Given the description of an element on the screen output the (x, y) to click on. 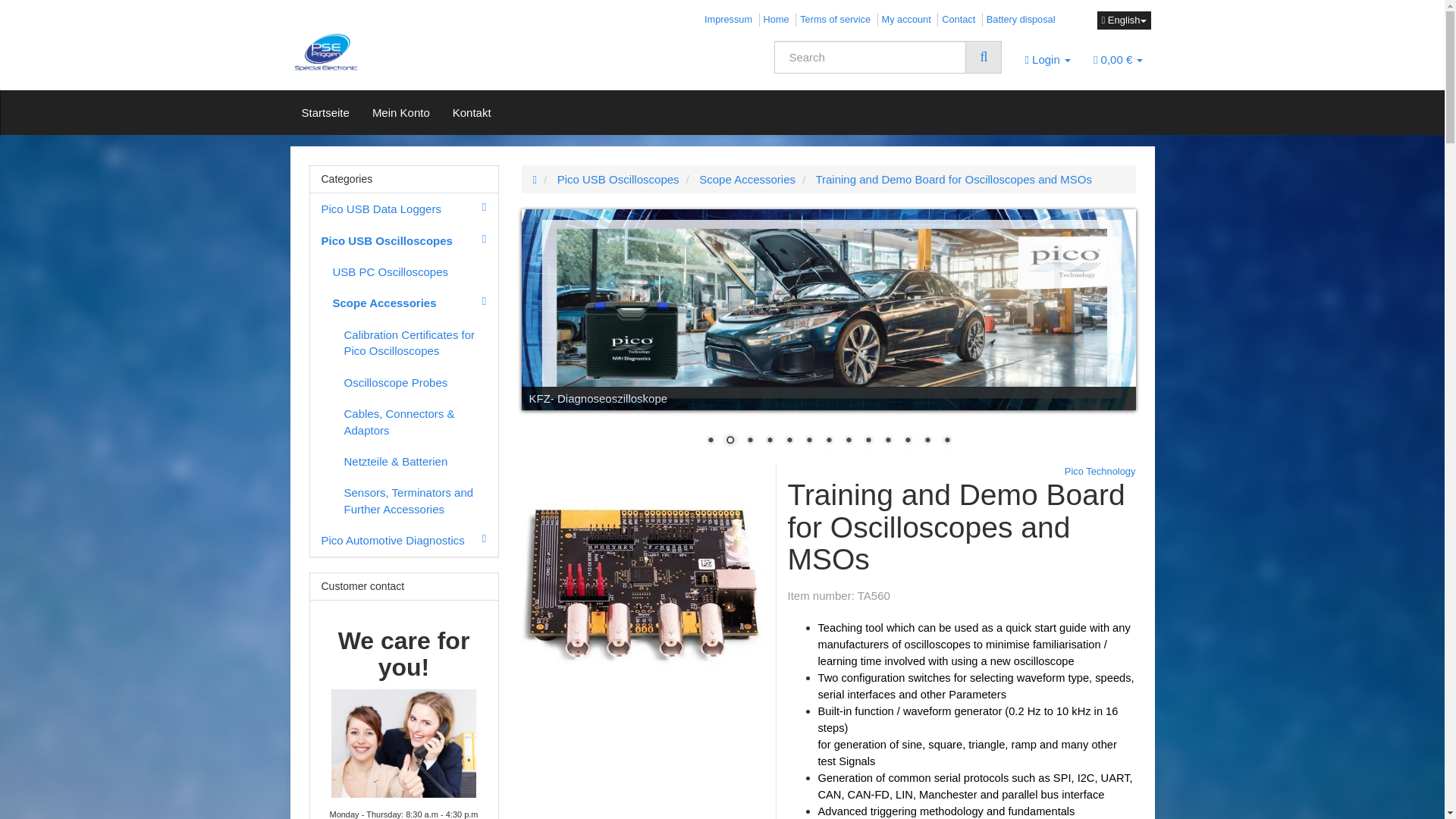
Login (1047, 59)
Terms of service (834, 19)
Basket (1117, 59)
Impressum (728, 19)
My account (906, 19)
Login (1047, 59)
Home (775, 19)
Please choose a language (1123, 20)
Impressum (728, 19)
Contact (958, 19)
Battery disposal (1021, 19)
Contact (958, 19)
Kontakt (471, 112)
Startseite (324, 112)
Mein Konto (401, 112)
